Given the description of an element on the screen output the (x, y) to click on. 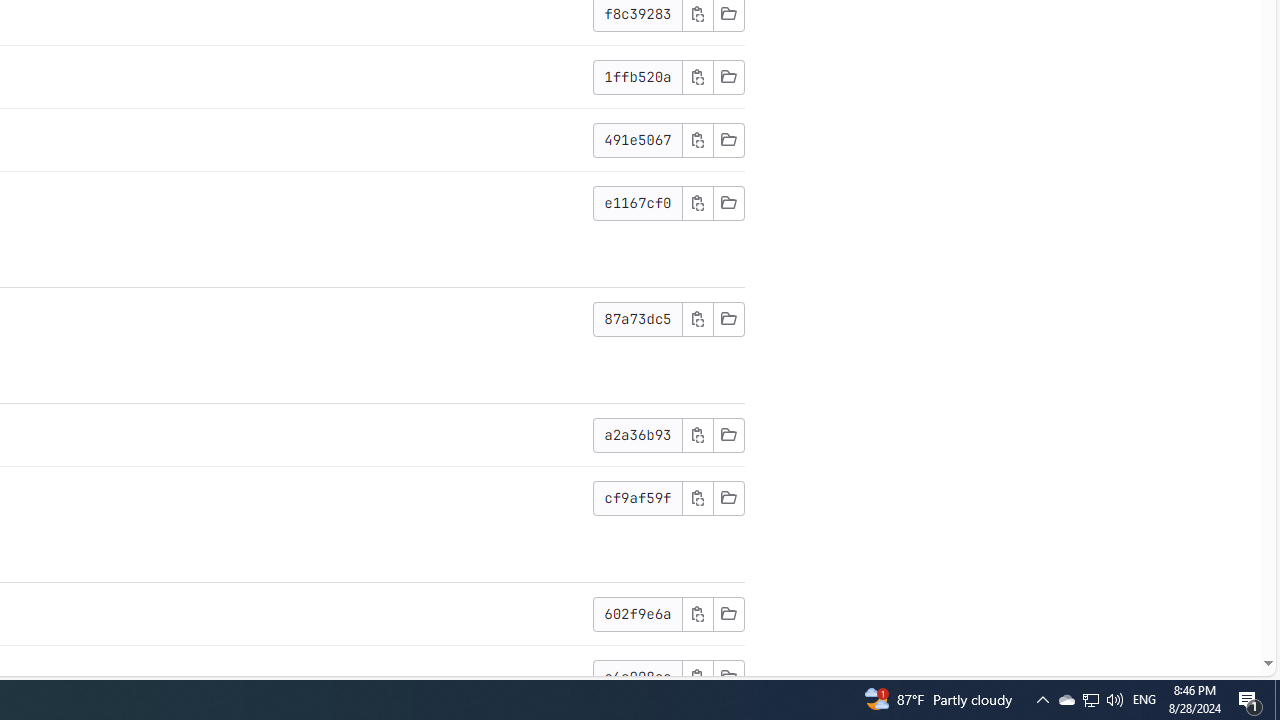
Class: s16 gl-icon gl-button-icon  (697, 676)
Copy commit SHA (697, 676)
Browse Files (727, 676)
Class: s16 (728, 676)
